Given the description of an element on the screen output the (x, y) to click on. 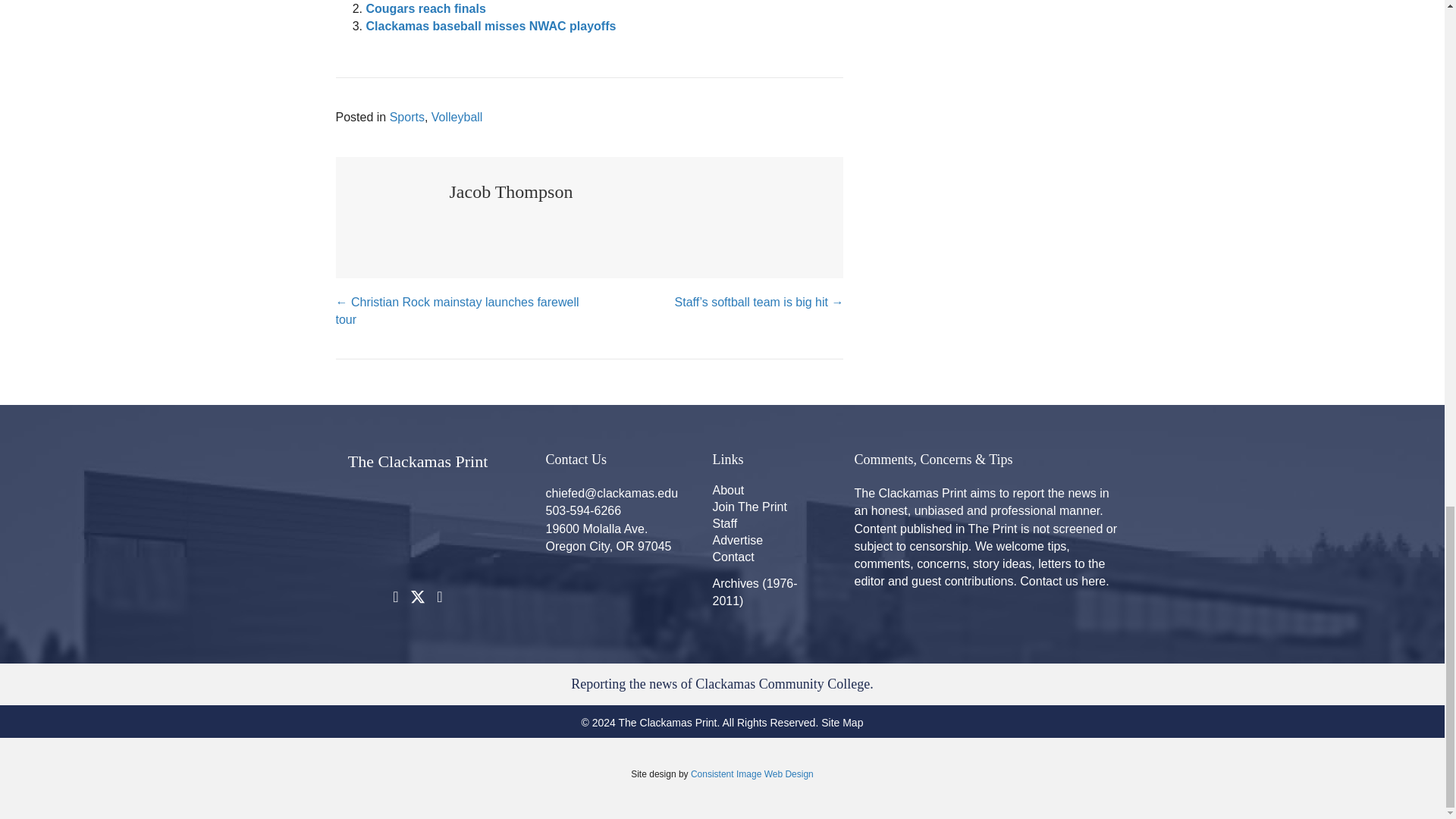
Volleyball (456, 116)
Clackamas baseball misses NWAC playoffs (490, 25)
Cougars reach finals (424, 8)
Facebook (395, 597)
Clackamas baseball misses NWAC playoffs (490, 25)
Cougars reach finals (424, 8)
Sports (407, 116)
